Given the description of an element on the screen output the (x, y) to click on. 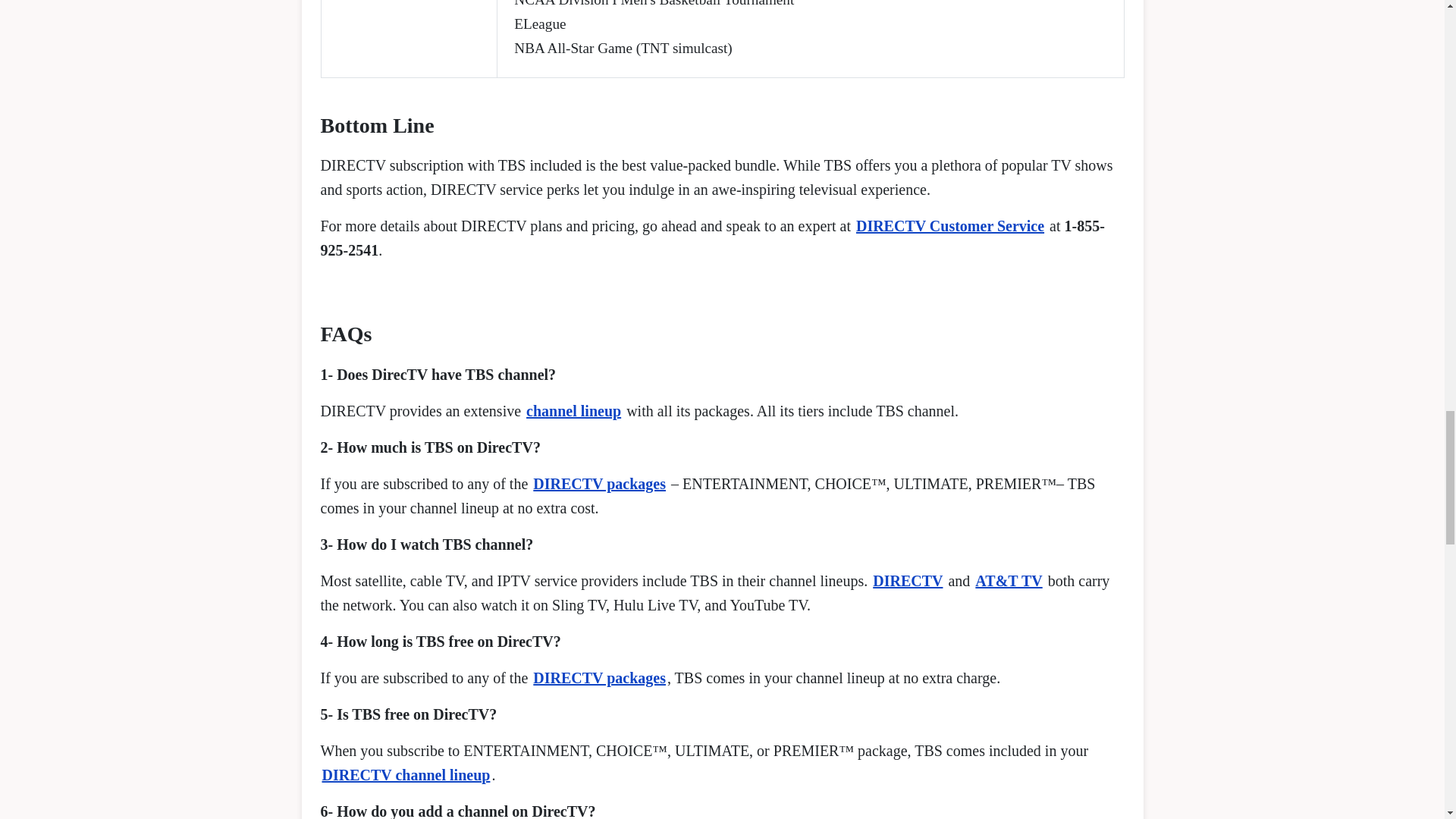
DIRECTV packages (598, 483)
DIRECTV channel lineup (406, 774)
channel lineup (573, 410)
DIRECTV (906, 580)
DIRECTV Customer Service (949, 225)
DIRECTV packages (598, 677)
